Given the description of an element on the screen output the (x, y) to click on. 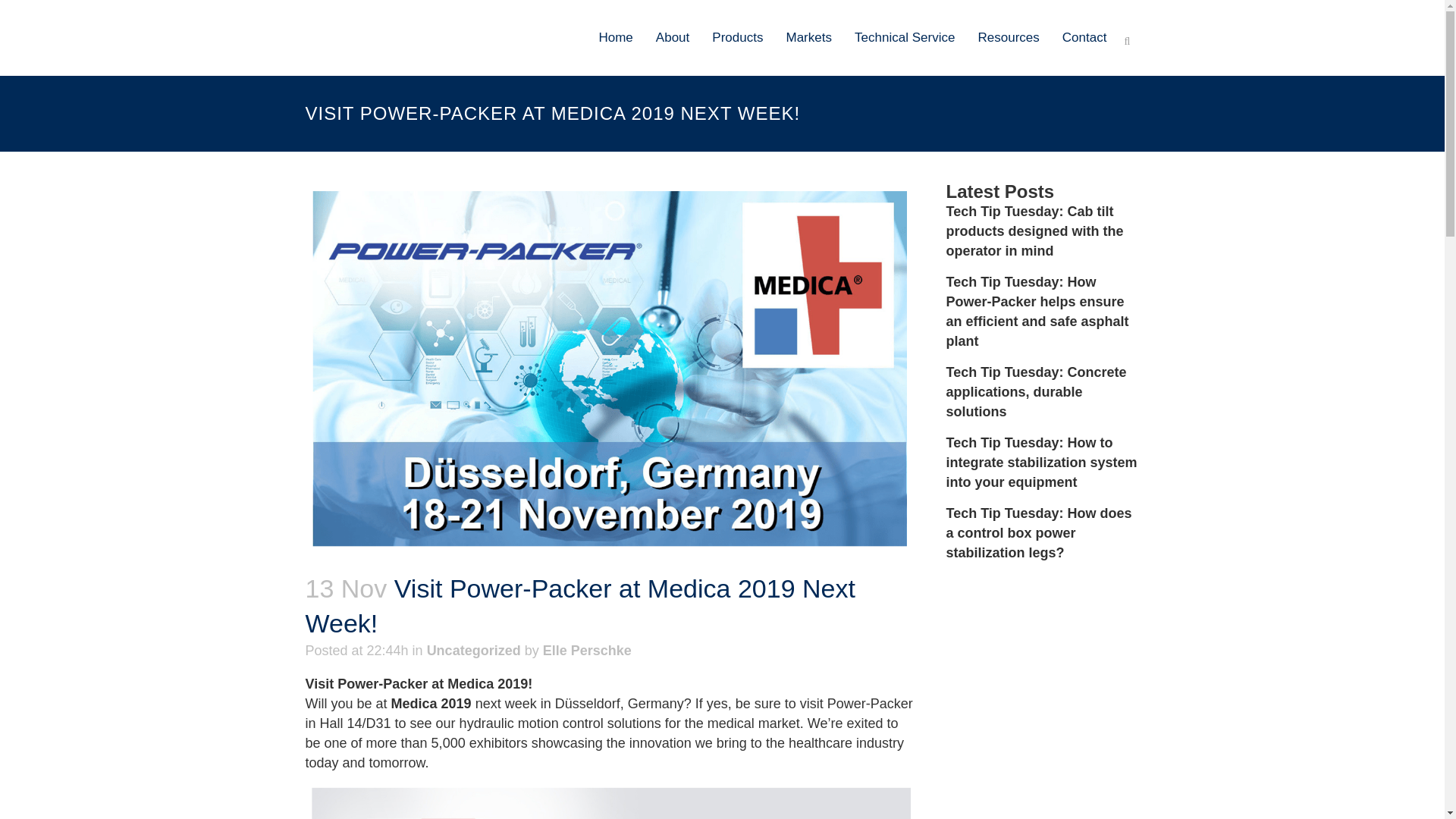
Markets (808, 38)
Technical Service (904, 38)
Contact (1084, 38)
Products (737, 38)
Resources (1007, 38)
